Given the description of an element on the screen output the (x, y) to click on. 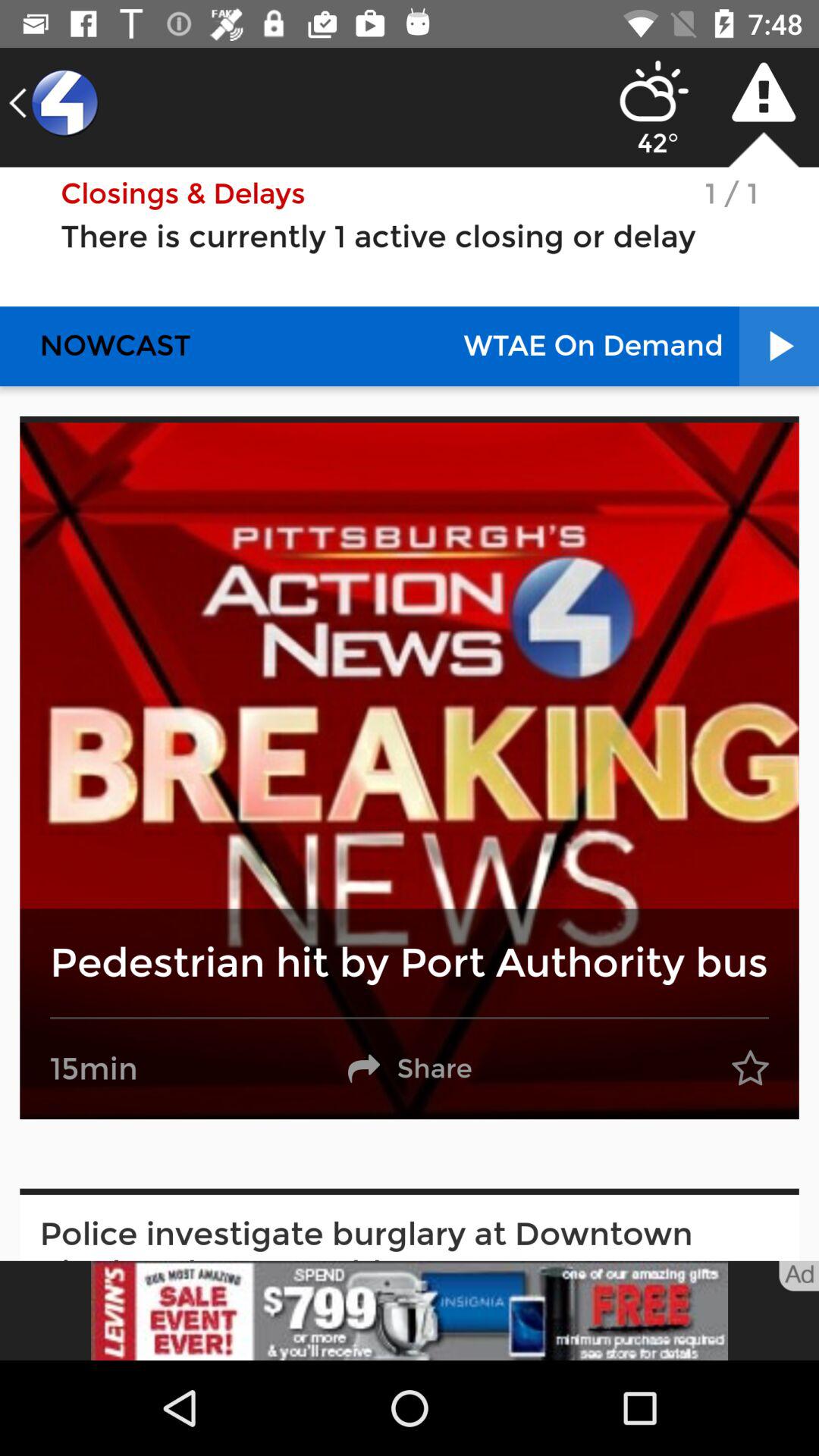
view advertisement (409, 1310)
